Given the description of an element on the screen output the (x, y) to click on. 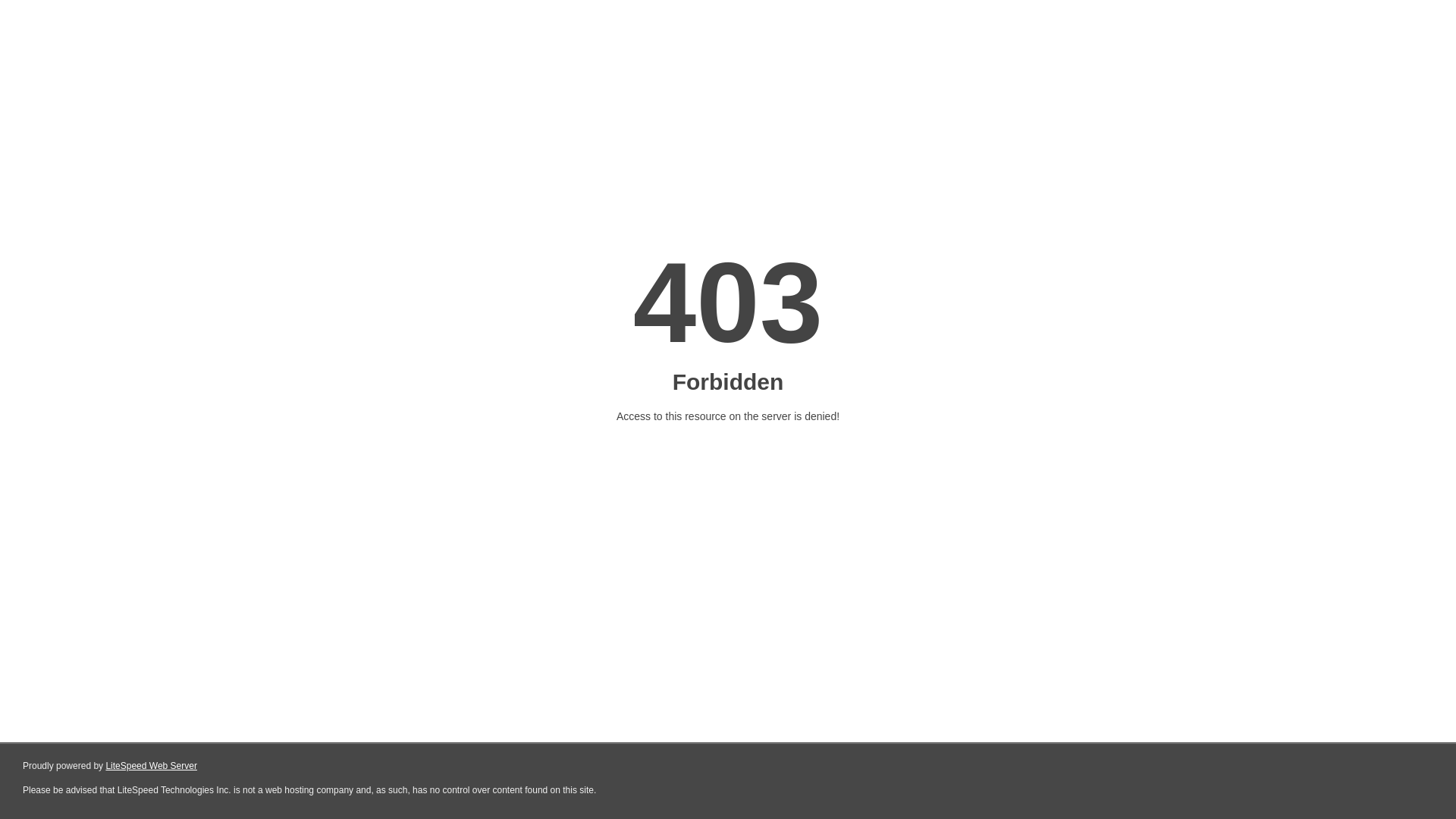
LiteSpeed Web Server Element type: text (151, 765)
